Given the description of an element on the screen output the (x, y) to click on. 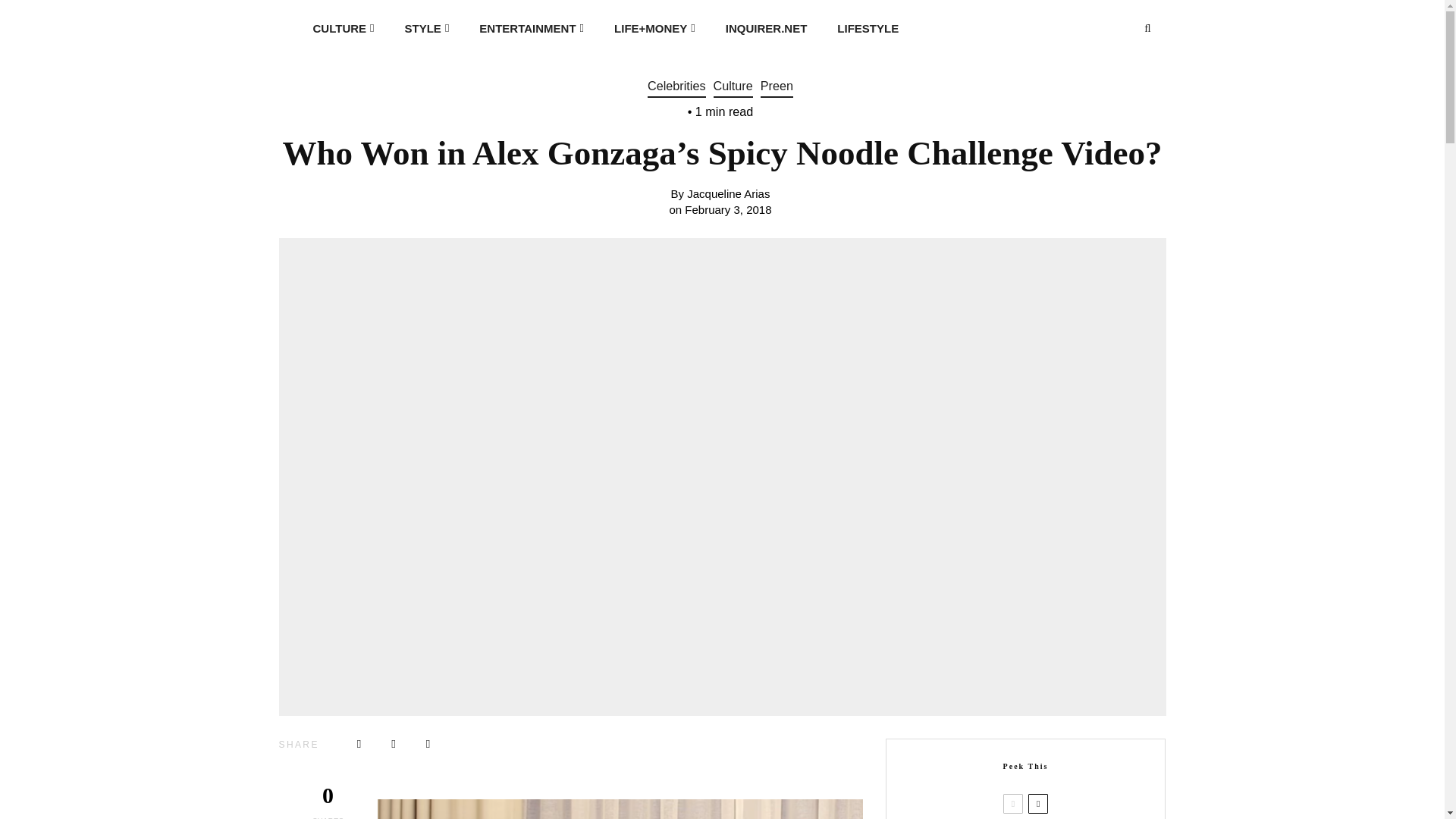
STYLE (427, 26)
CULTURE (342, 26)
ENTERTAINMENT (531, 26)
